Given the description of an element on the screen output the (x, y) to click on. 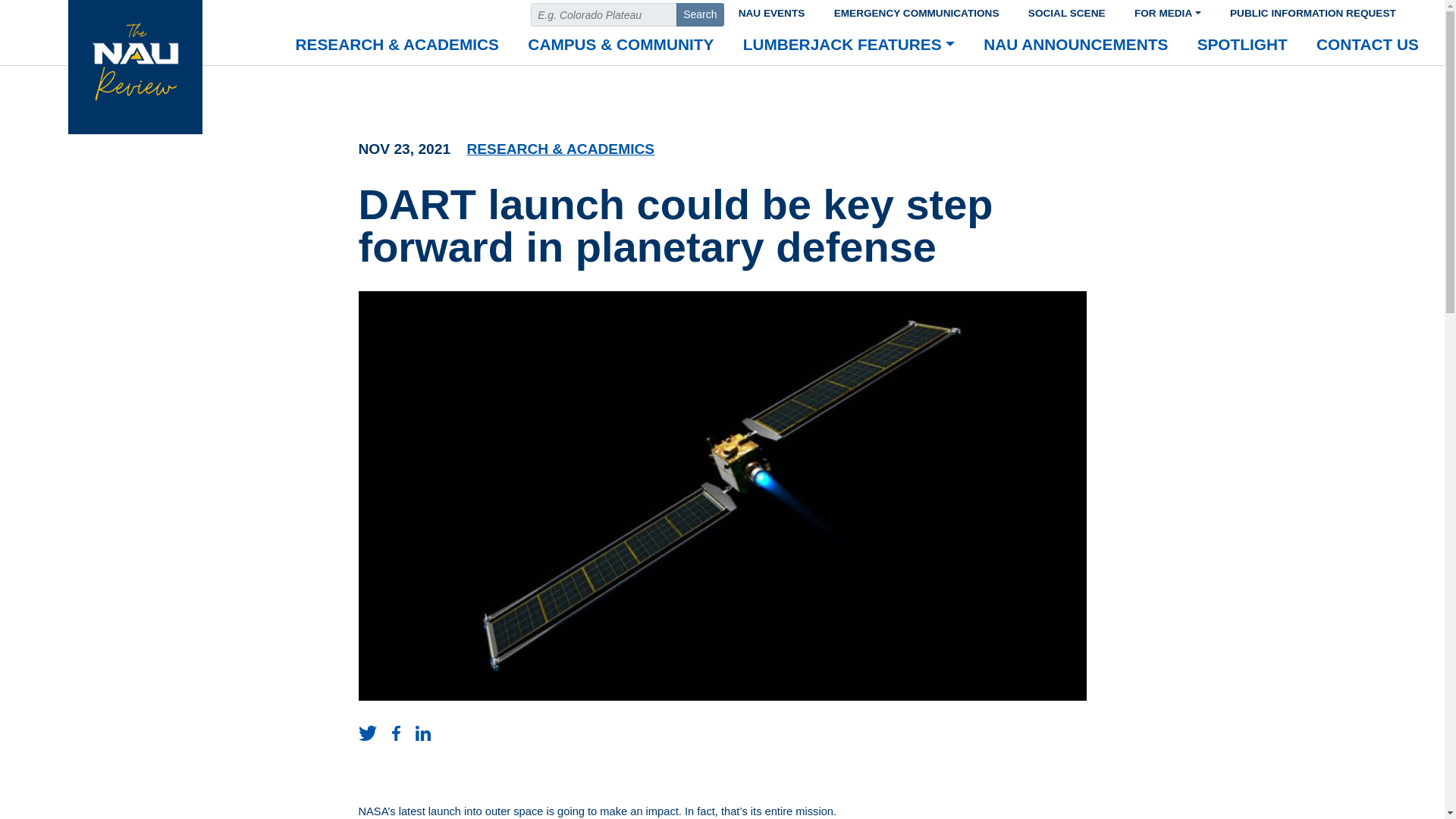
Search (700, 14)
Search (700, 14)
NAU ANNOUNCEMENTS (1075, 45)
Lumberjack Features (848, 45)
Social Scene (1066, 10)
SOCIAL SCENE (1066, 10)
LUMBERJACK FEATURES (848, 45)
For Media (1167, 10)
Public Information Request (1312, 10)
Search (700, 14)
